Given the description of an element on the screen output the (x, y) to click on. 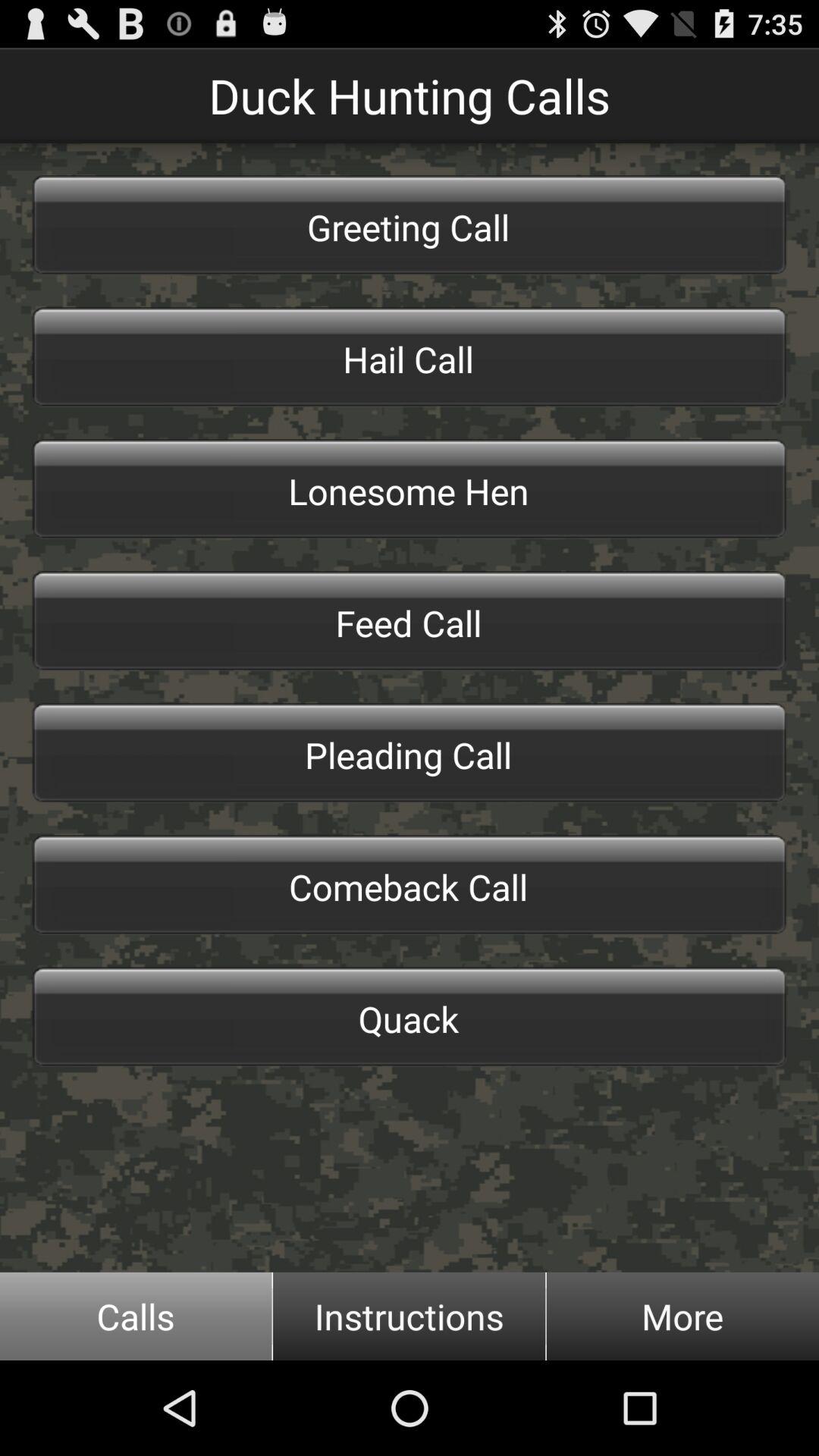
launch icon above pleading call button (409, 621)
